Given the description of an element on the screen output the (x, y) to click on. 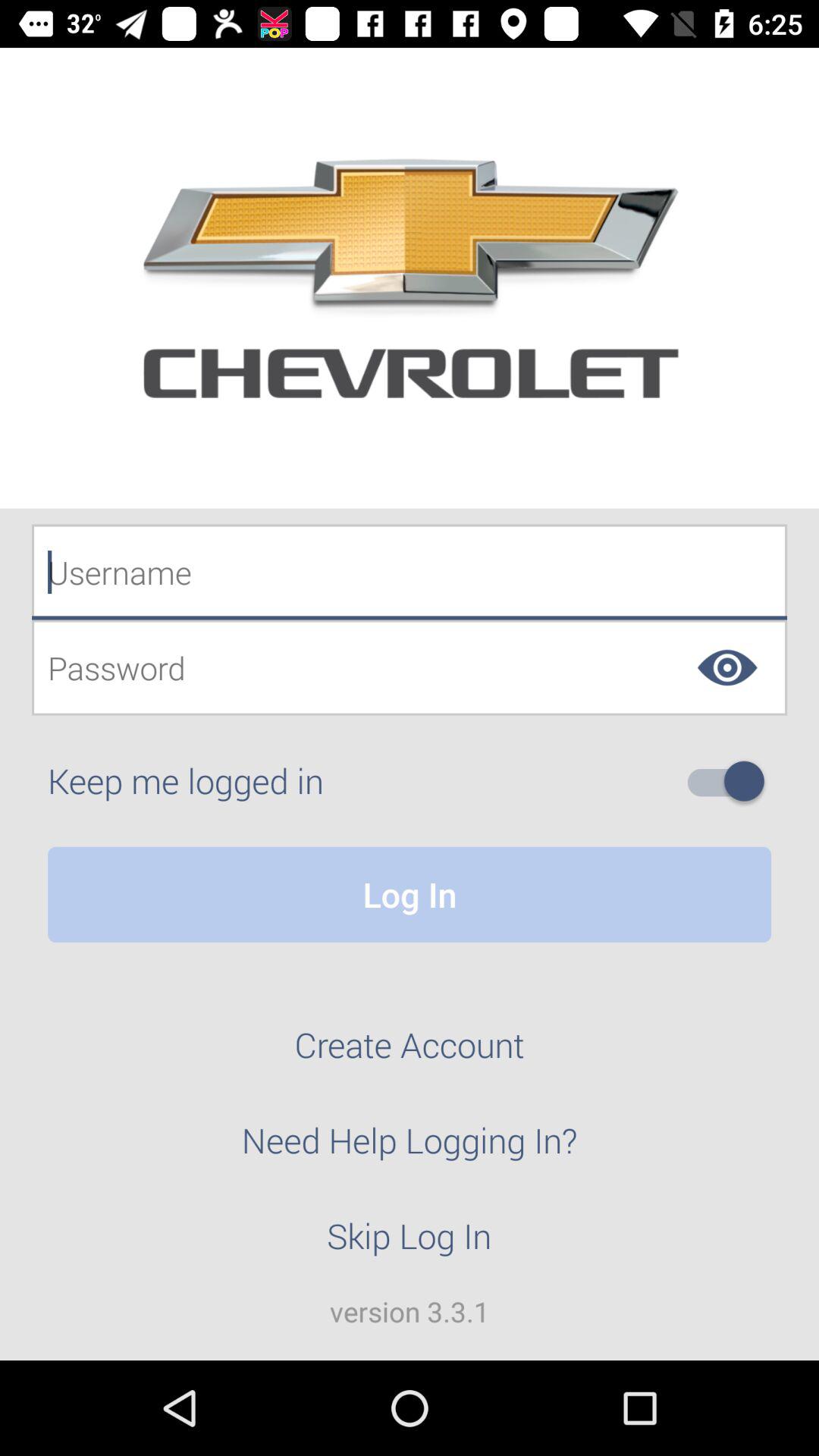
switch on to stay logged into the site (731, 781)
